Given the description of an element on the screen output the (x, y) to click on. 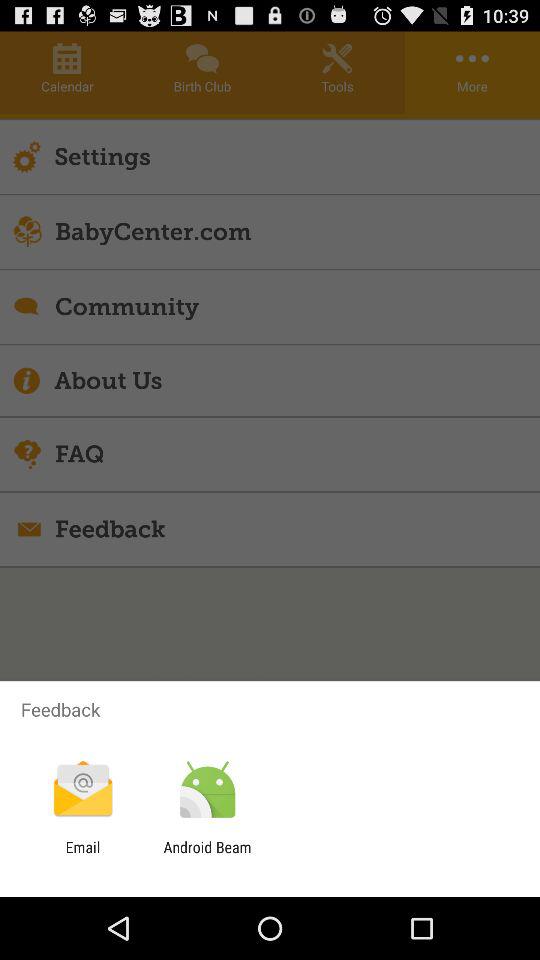
launch the android beam (207, 856)
